Given the description of an element on the screen output the (x, y) to click on. 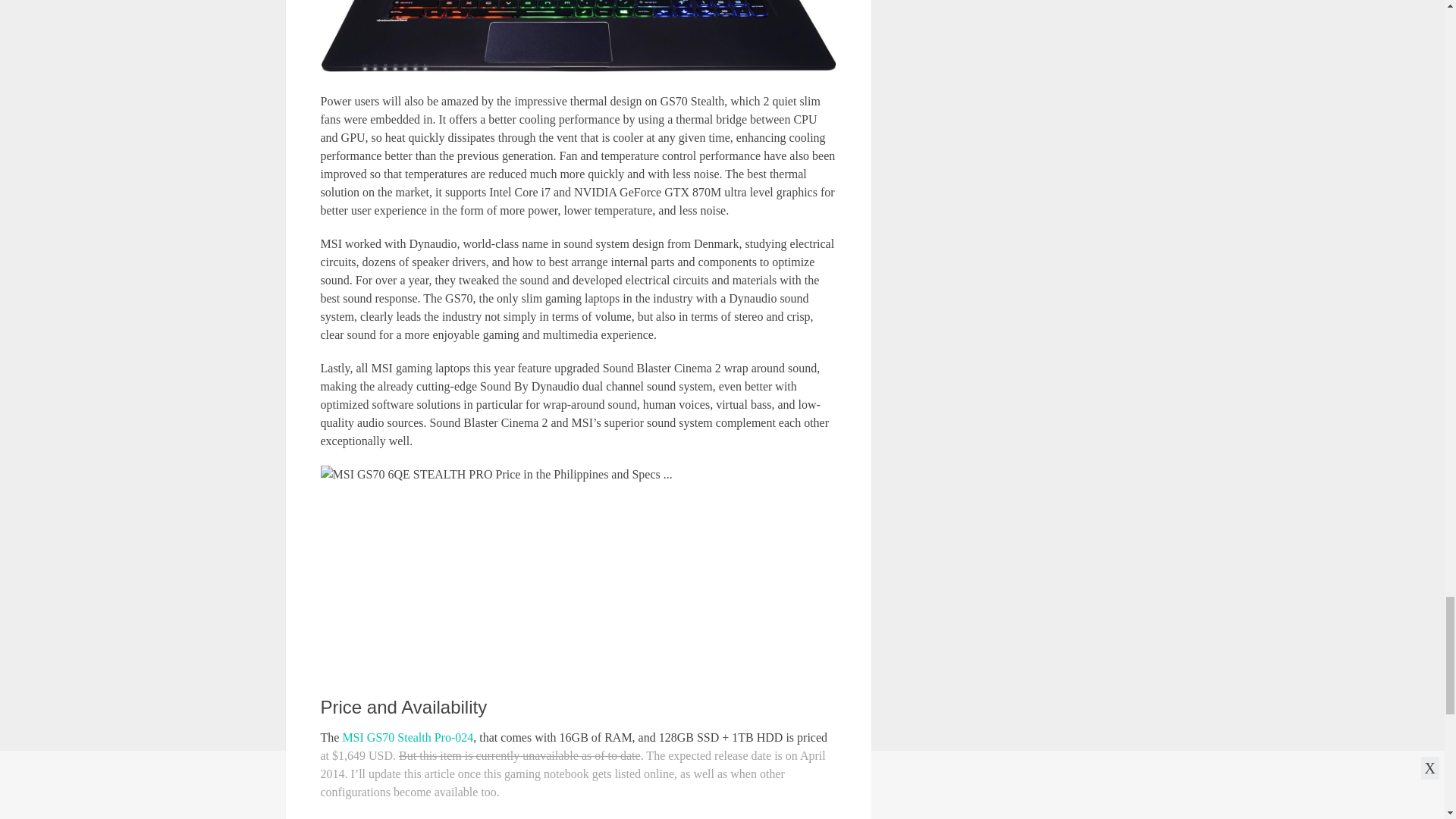
MSI GS70 Stealth Pro-024 (407, 737)
